Given the description of an element on the screen output the (x, y) to click on. 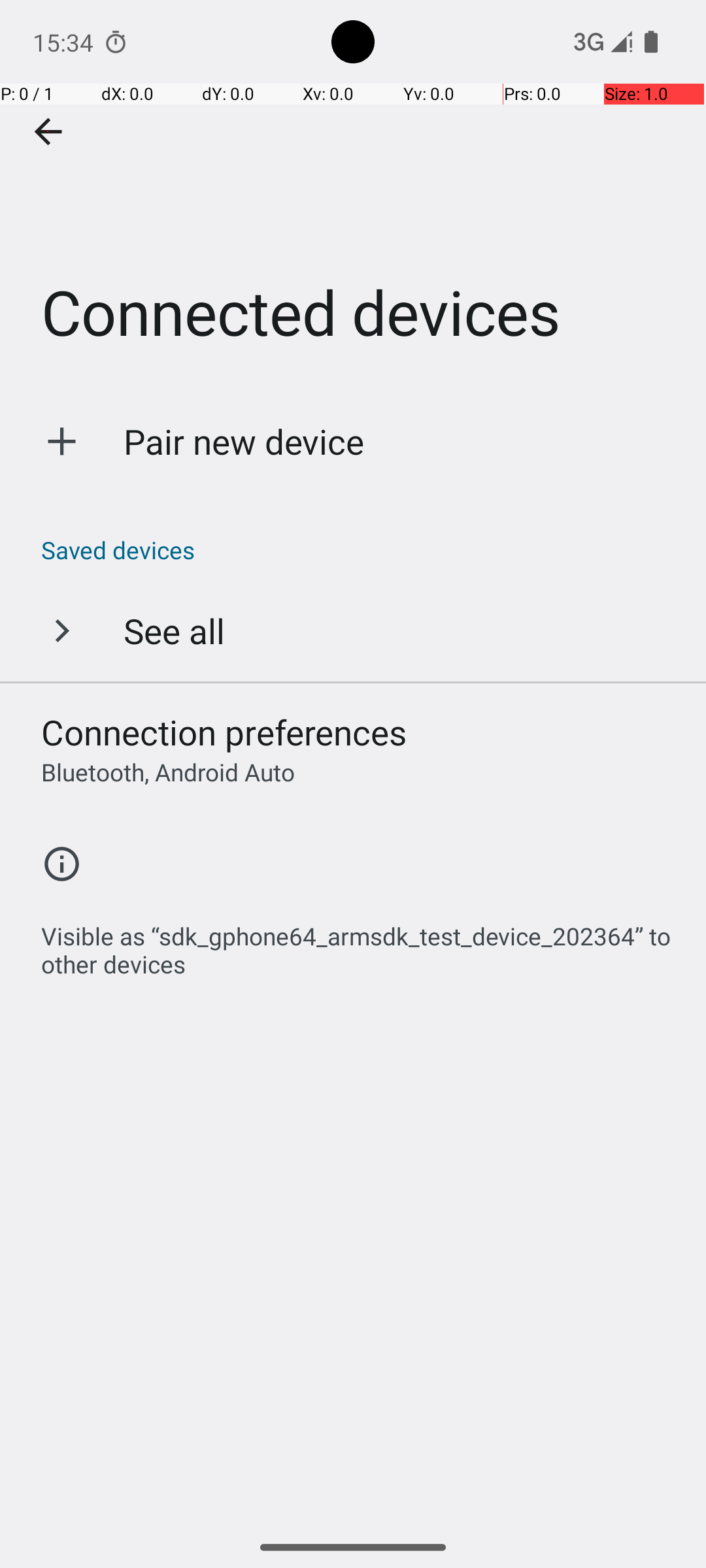
Visible as “sdk_gphone64_armsdk_test_device_202364” to other devices Element type: android.widget.TextView (359, 942)
